Given the description of an element on the screen output the (x, y) to click on. 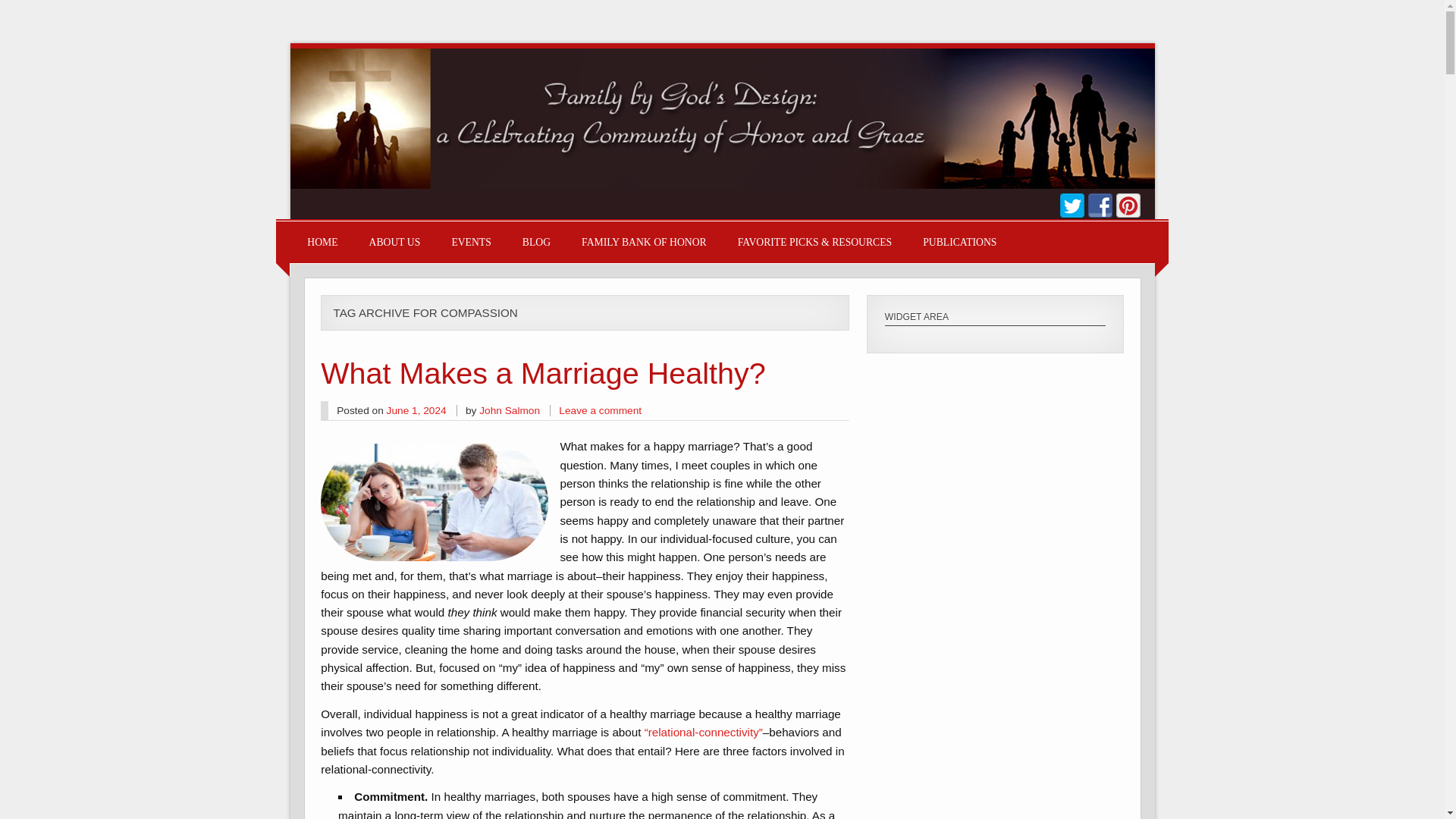
John Salmon (509, 410)
PUBLICATIONS (959, 241)
EVENTS (470, 241)
What Makes a Marriage Healthy? (542, 372)
View all posts by John Salmon (509, 410)
Family by God's Design (721, 184)
ABOUT US (394, 241)
Leave a comment (600, 410)
8:00 pm (416, 410)
FAMILY BANK OF HONOR (643, 241)
June 1, 2024 (416, 410)
